Given the description of an element on the screen output the (x, y) to click on. 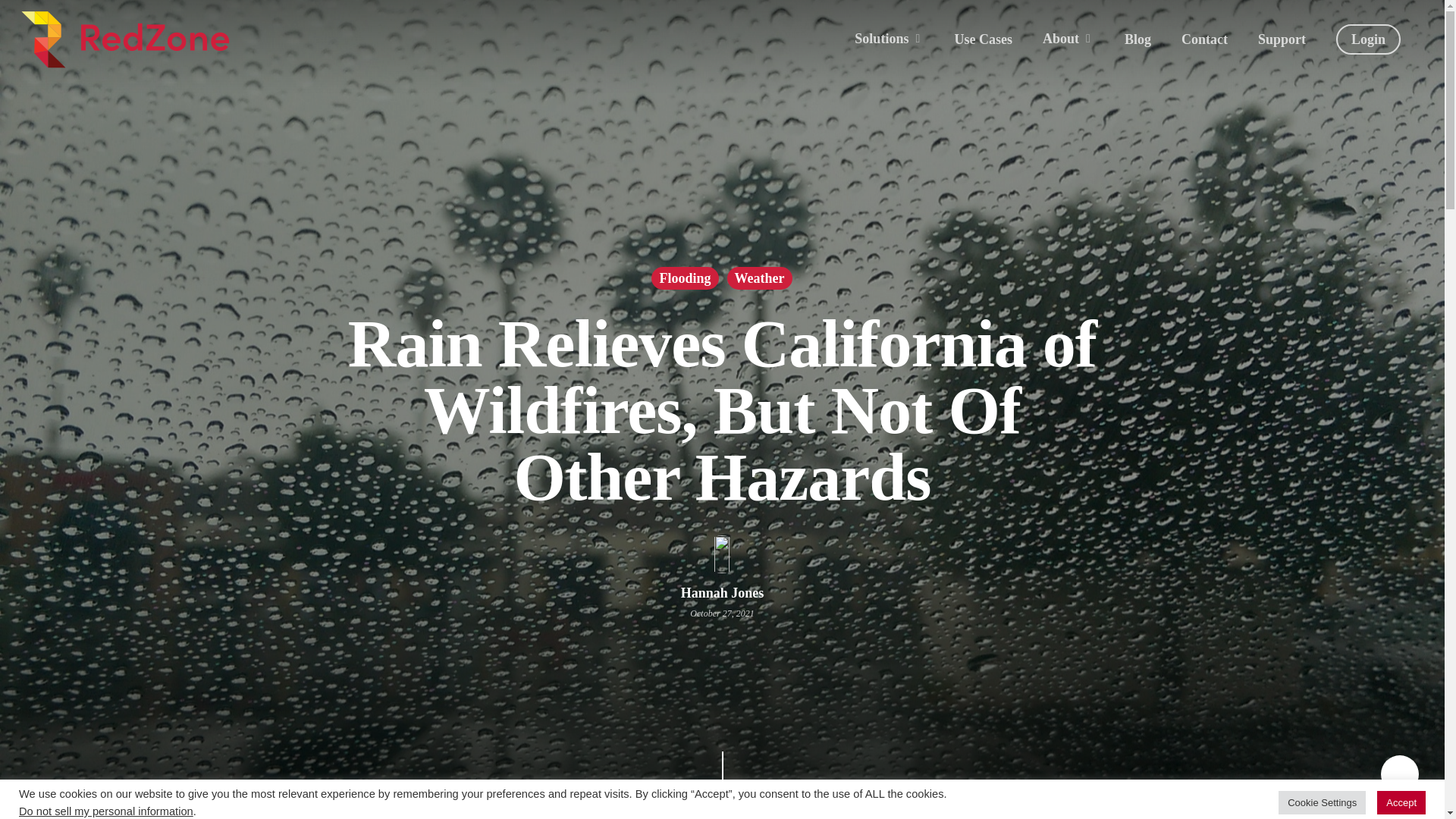
About (1068, 38)
Blog (1137, 39)
Weather (759, 277)
Hannah Jones (722, 592)
Posts by Hannah Jones (722, 592)
Flooding (683, 277)
Login (1368, 39)
Contact (1203, 39)
Support (1281, 39)
Use Cases (982, 39)
Solutions (888, 38)
